Given the description of an element on the screen output the (x, y) to click on. 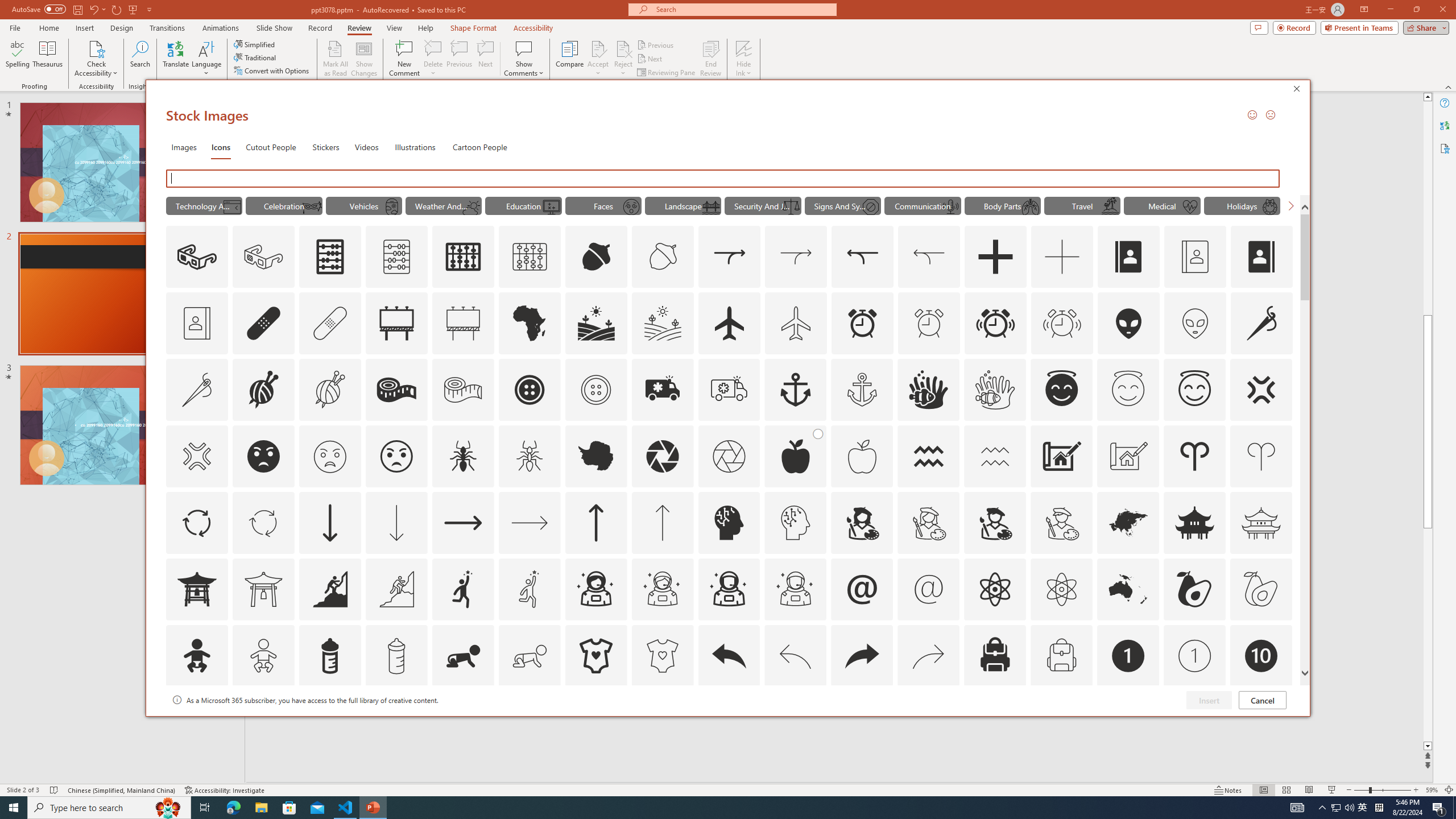
AutomationID: Icons_AstronautFemale (595, 588)
AutomationID: Icons_AngryFace (263, 455)
AutomationID: Icons_Acorn_M (663, 256)
AutomationID: Icons_Apple (795, 455)
AutomationID: Icons_Add (995, 256)
Language (206, 58)
Thesaurus... (47, 58)
AutomationID: Icons_Badge1 (1128, 655)
